Given the description of an element on the screen output the (x, y) to click on. 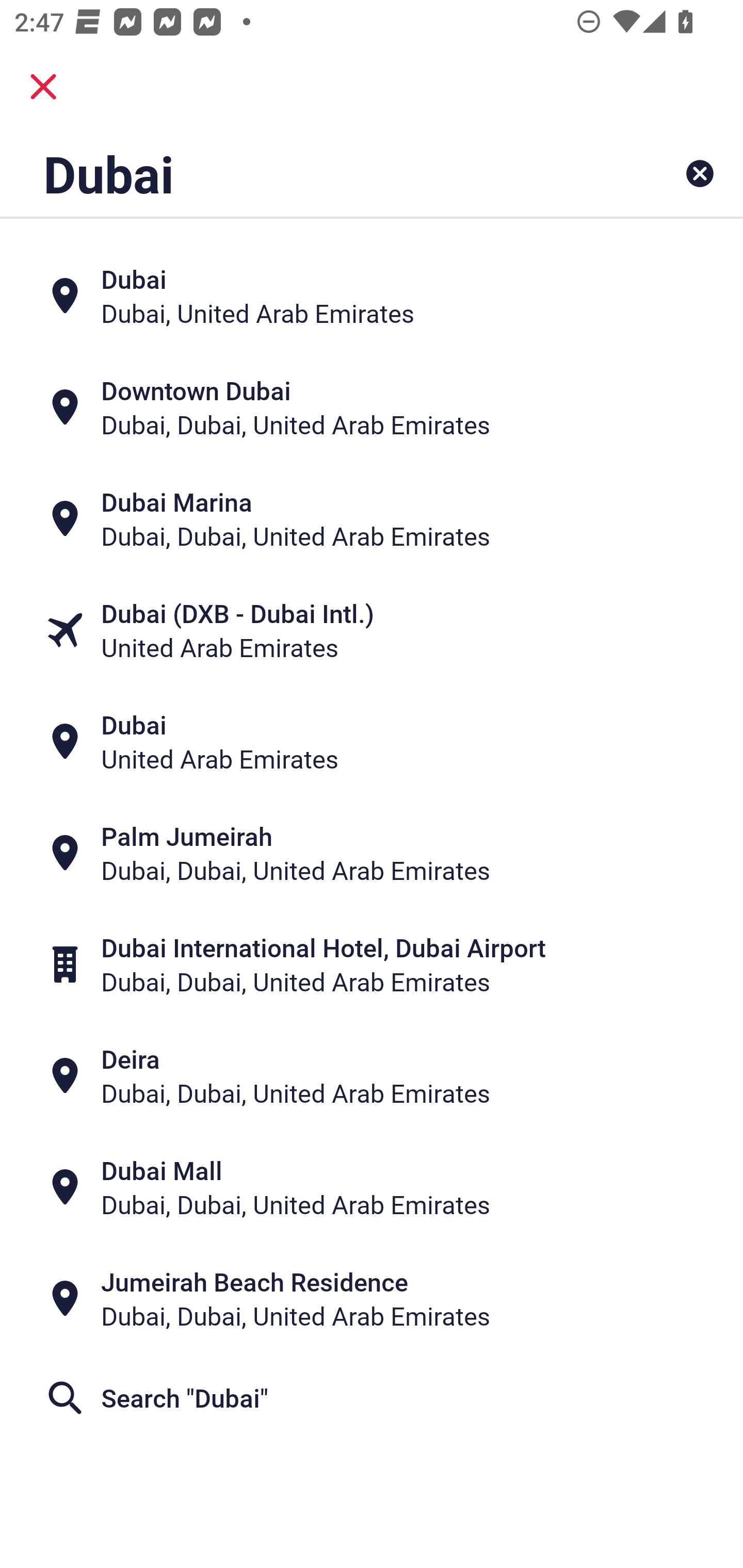
close. (43, 86)
Clear (699, 173)
Dubai (306, 173)
Dubai Dubai, United Arab Emirates (371, 295)
Downtown Dubai Dubai, Dubai, United Arab Emirates (371, 406)
Dubai Marina Dubai, Dubai, United Arab Emirates (371, 517)
Dubai (DXB - Dubai Intl.) United Arab Emirates (371, 629)
Dubai United Arab Emirates (371, 742)
Palm Jumeirah Dubai, Dubai, United Arab Emirates (371, 853)
Deira Dubai, Dubai, United Arab Emirates (371, 1076)
Dubai Mall Dubai, Dubai, United Arab Emirates (371, 1187)
Search "Dubai" (371, 1397)
